Given the description of an element on the screen output the (x, y) to click on. 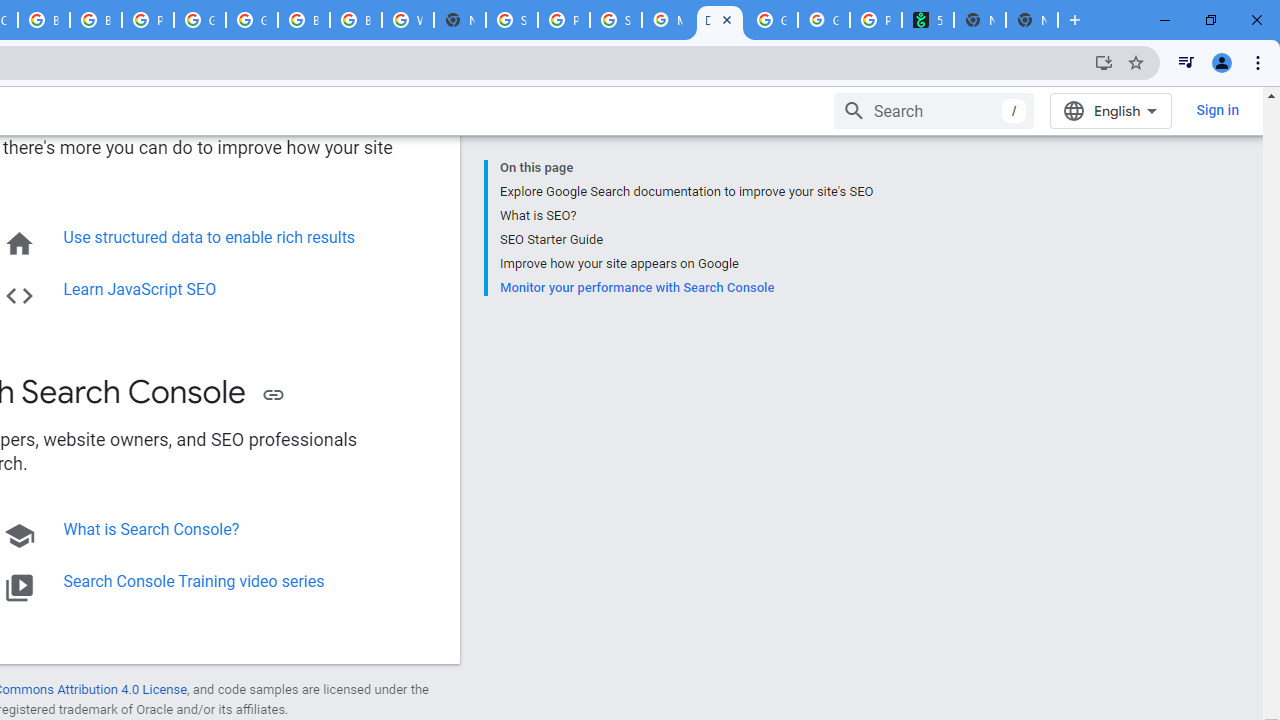
Use structured data to enable rich results (208, 237)
Monitor your performance with Search Console (686, 285)
New Tab (1032, 20)
